Given the description of an element on the screen output the (x, y) to click on. 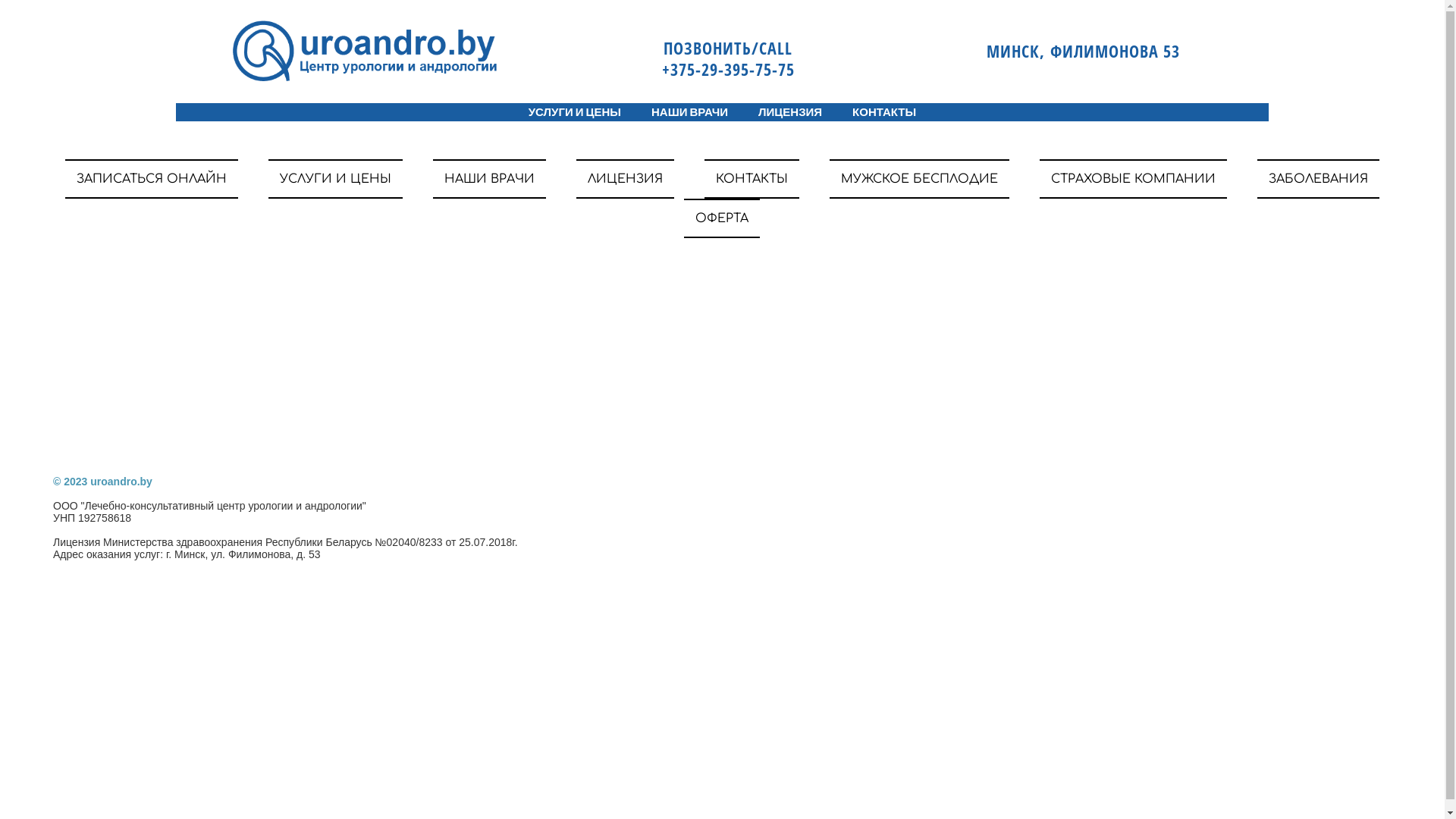
gallery/logoss2 Element type: hover (364, 50)
    +375-29-395-75-75 Element type: text (718, 68)
